Given the description of an element on the screen output the (x, y) to click on. 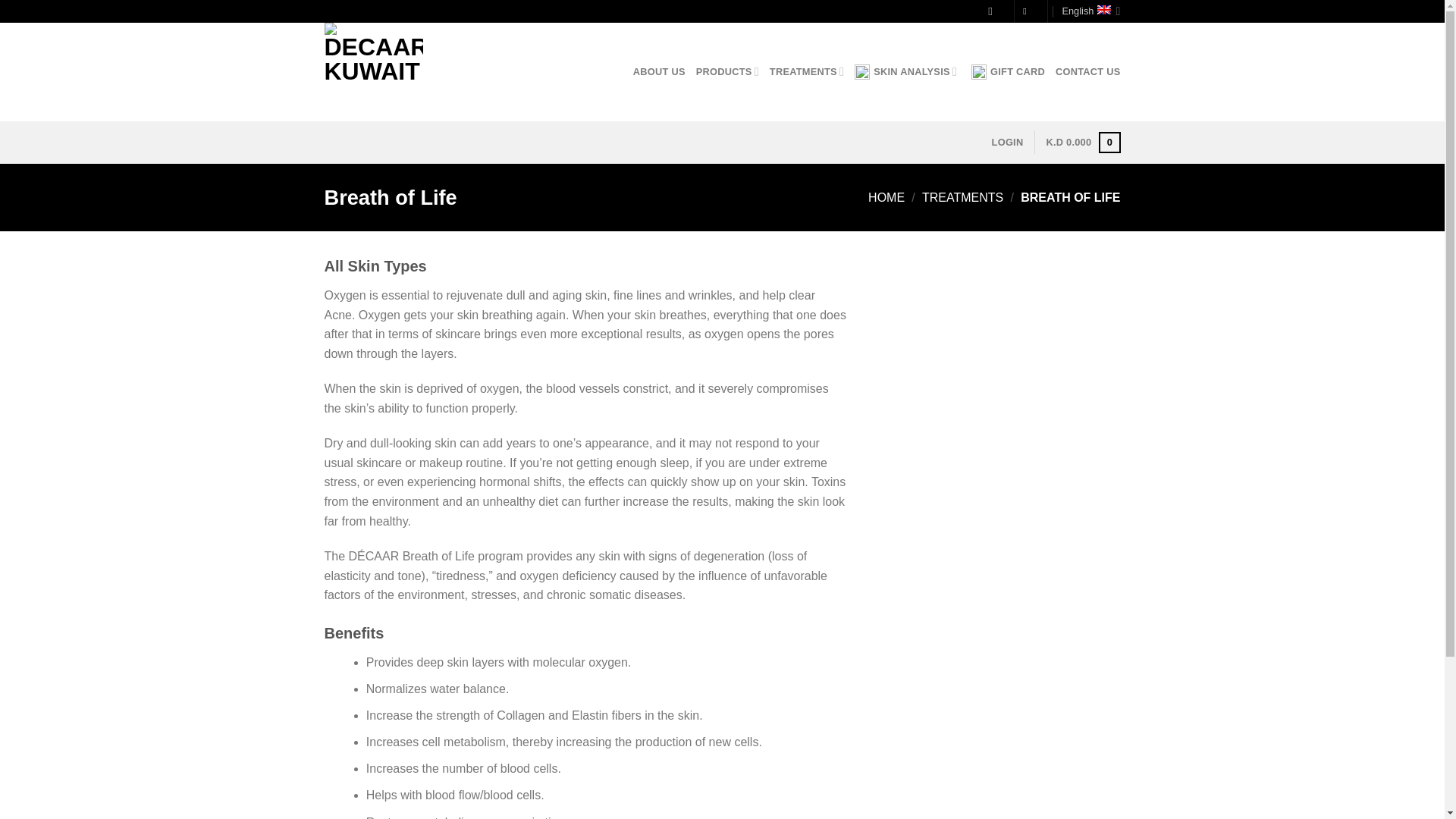
Login (1007, 142)
Cart (1082, 142)
PRODUCTS (726, 71)
DECAAR KUWAIT - Professional Skincare (400, 71)
English (1090, 11)
ABOUT US (659, 71)
